Given the description of an element on the screen output the (x, y) to click on. 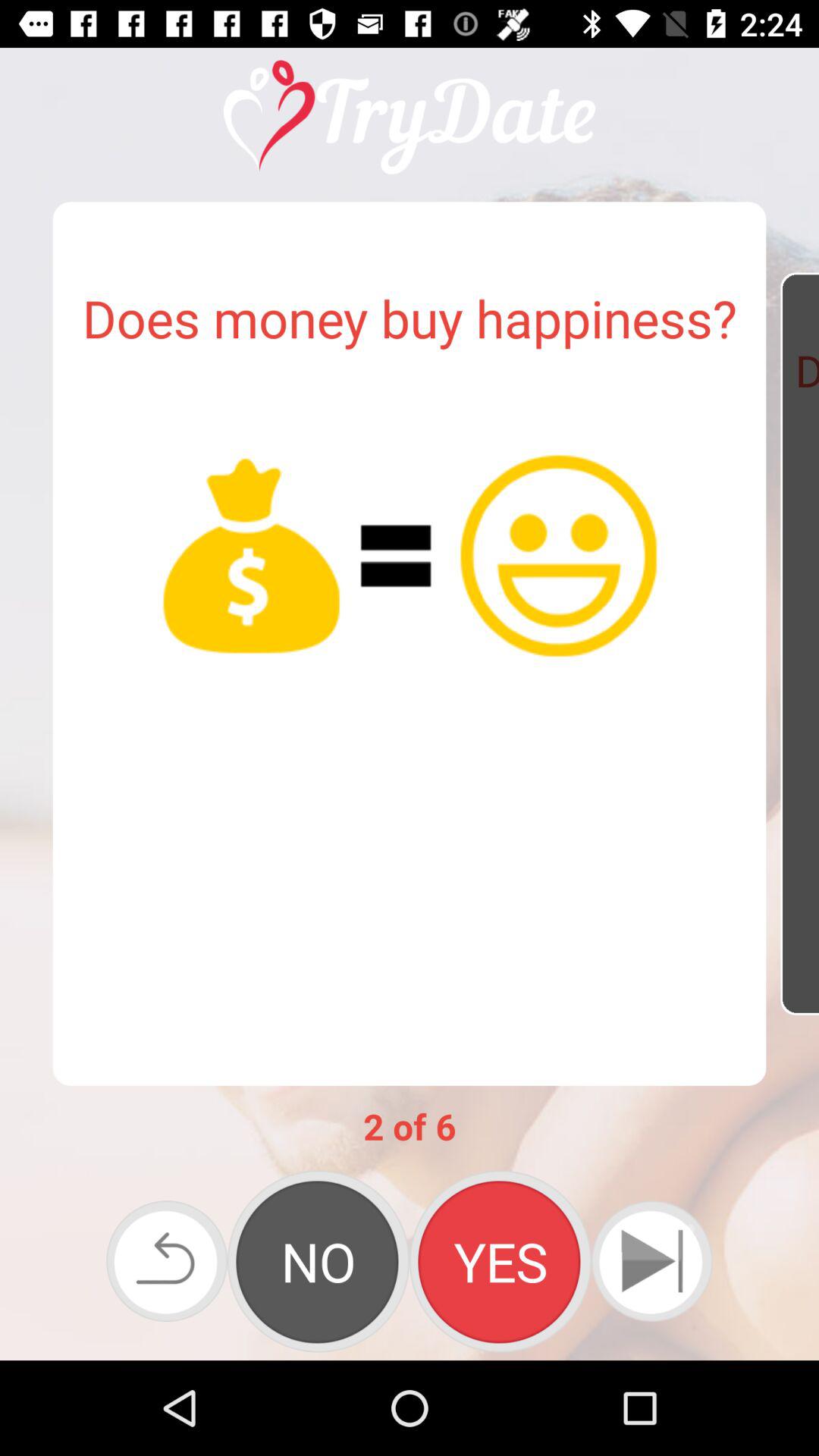
turn off the icon below the 2 of 6 (166, 1260)
